Given the description of an element on the screen output the (x, y) to click on. 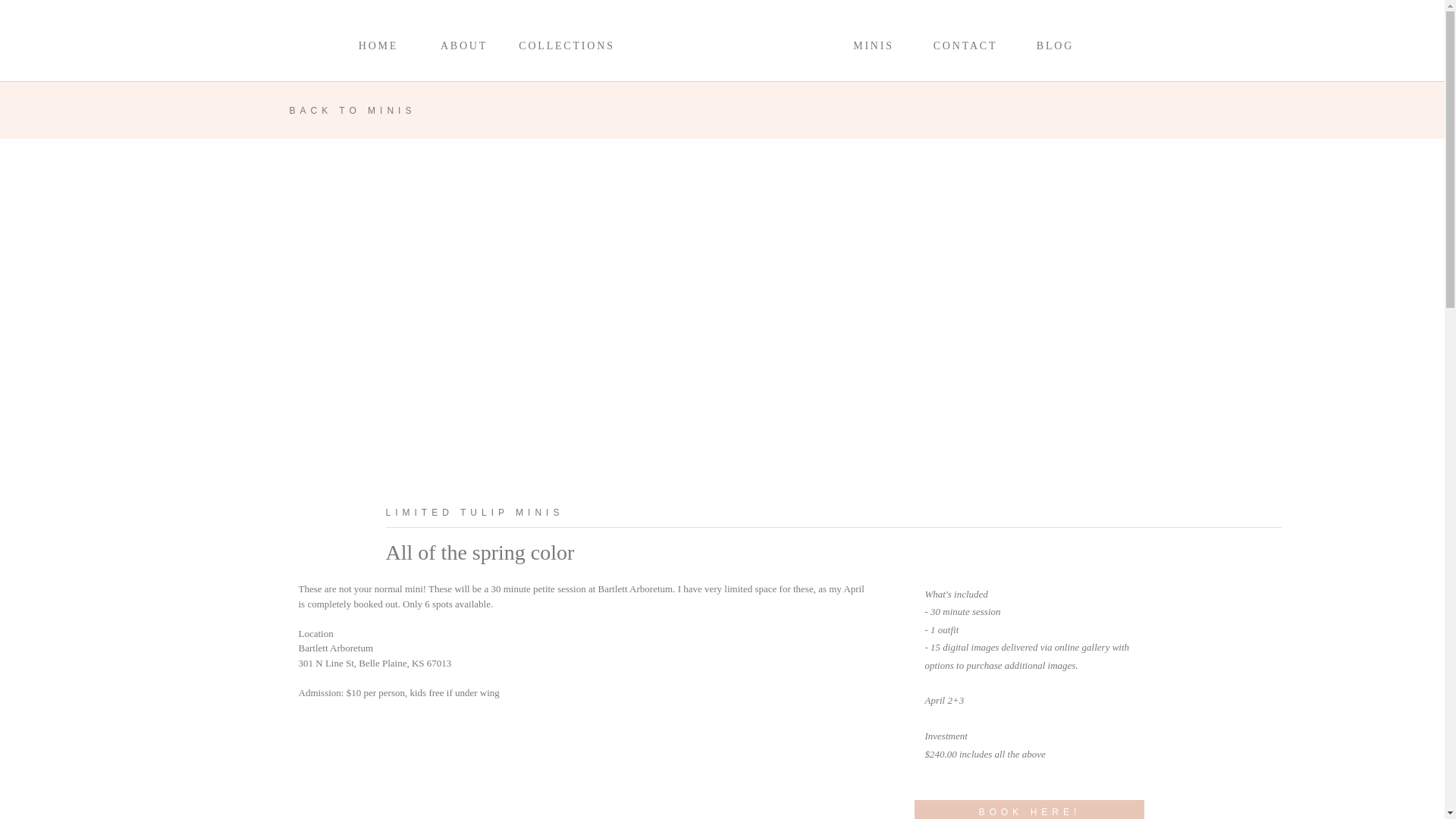
CONTACT (965, 48)
HOME (378, 48)
ABOUT (463, 48)
MINIS (873, 48)
BOOK HERE! (1029, 811)
BACK TO MINIS (376, 110)
BLOG (1055, 48)
COLLECTIONS (566, 48)
